Given the description of an element on the screen output the (x, y) to click on. 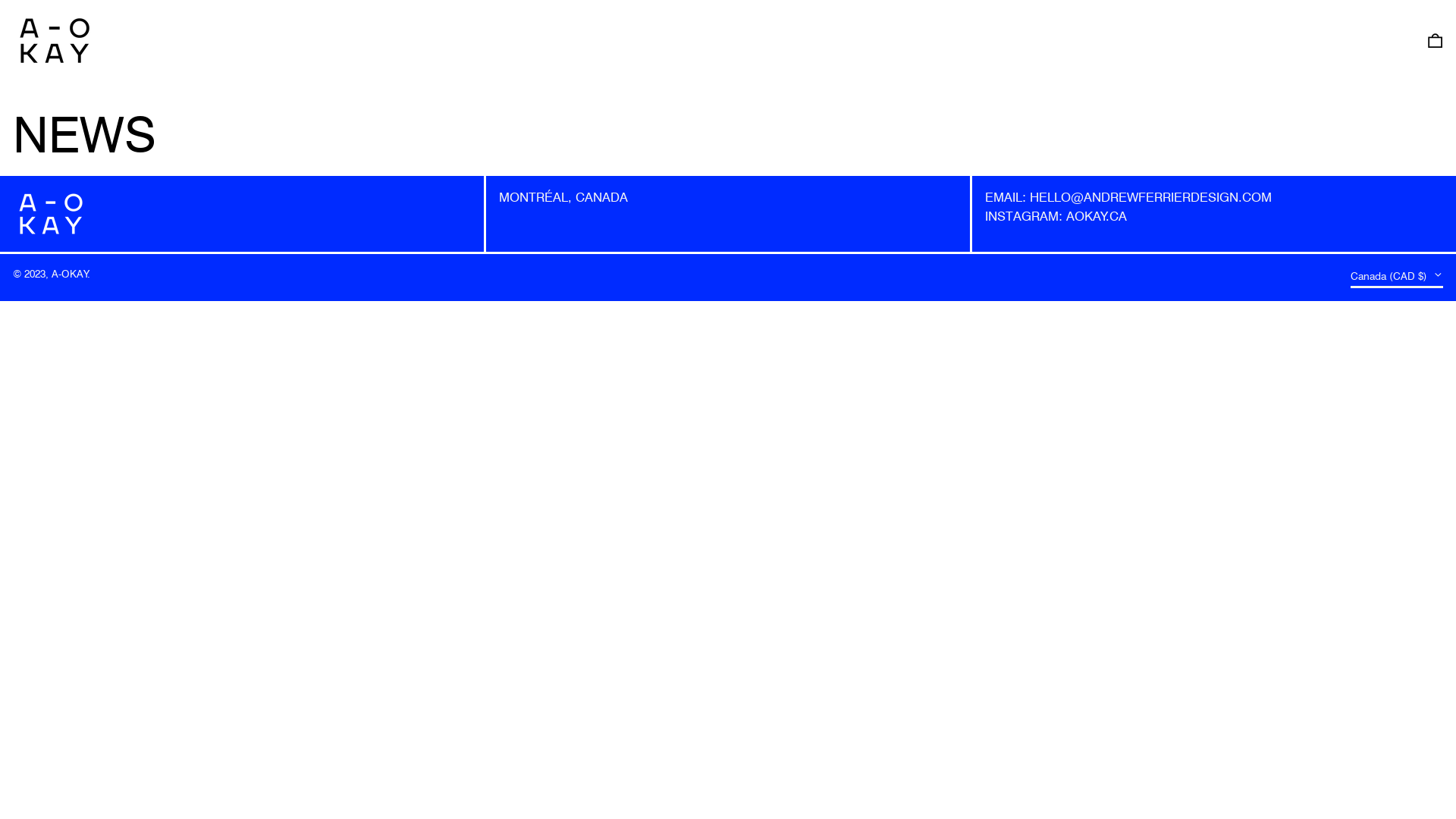
0 ITEMS Element type: text (1435, 40)
INSTAGRAM: AOKAY.CA Element type: text (1055, 214)
A-OKAY Element type: text (69, 273)
Canada (CAD $) Element type: text (1396, 277)
EMAIL: HELLO@ANDREWFERRIERDESIGN.COM Element type: text (1128, 196)
